Given the description of an element on the screen output the (x, y) to click on. 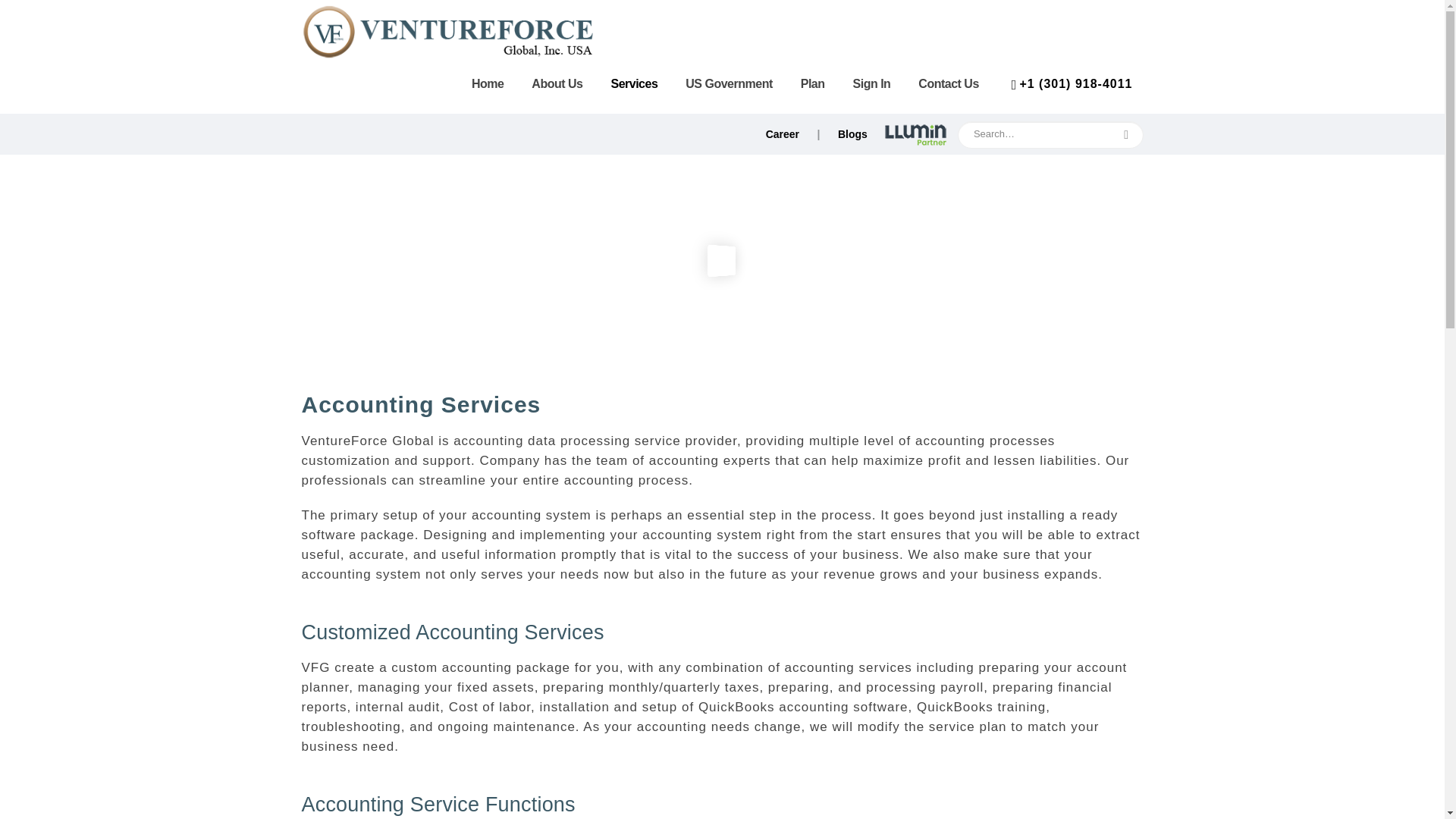
Home (487, 83)
Services (633, 83)
Search (1125, 135)
Contact Us (947, 83)
About Us (556, 83)
Plan (812, 83)
Sign In (872, 83)
Blogs (852, 133)
US Government (728, 83)
Career (782, 133)
